Given the description of an element on the screen output the (x, y) to click on. 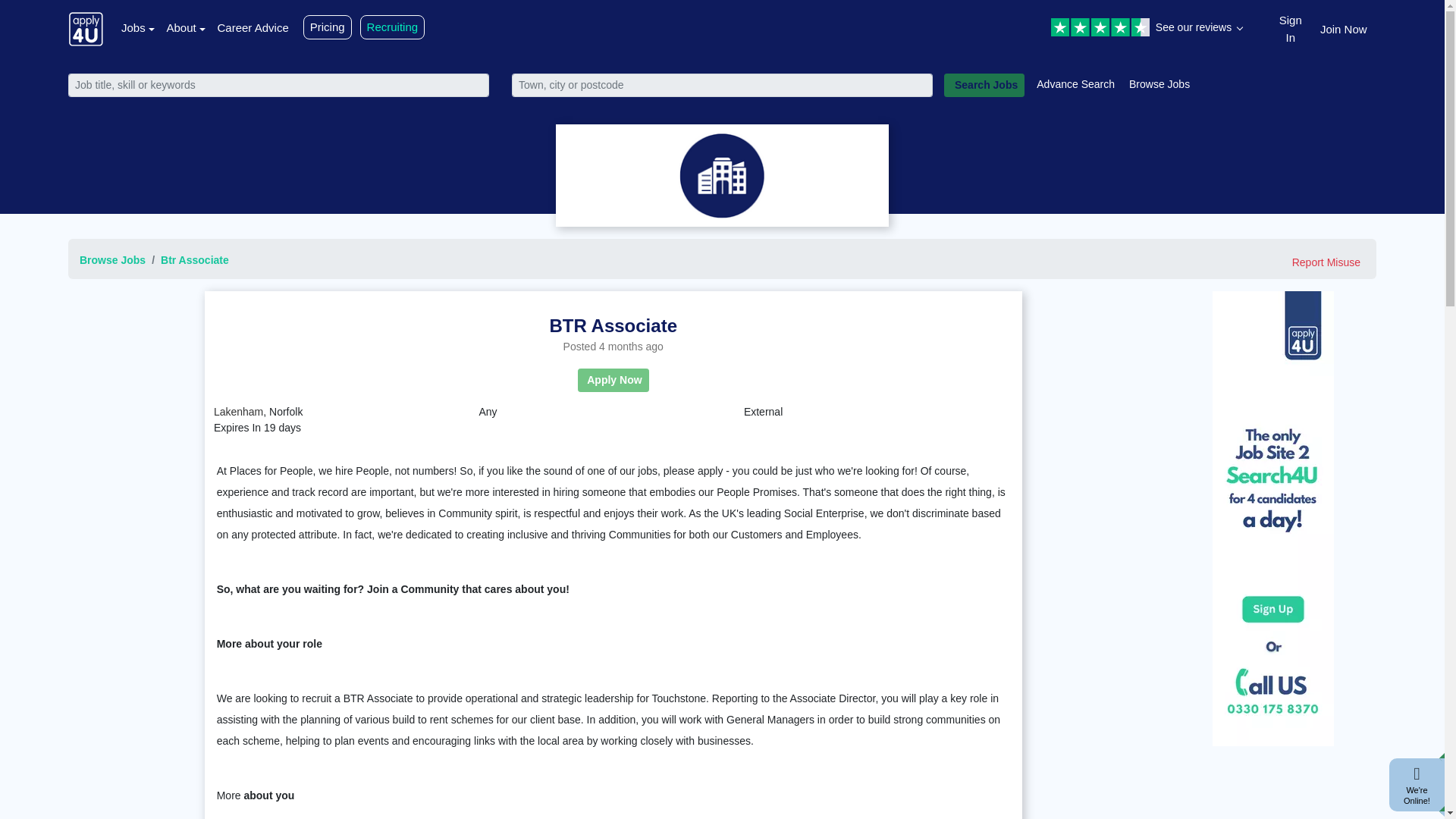
Sign In (1290, 27)
Report Misuse (1326, 262)
Lakenham (238, 411)
Career Advice (253, 27)
Pricing (327, 27)
Browse Jobs (1160, 83)
Btr Associate (194, 259)
Search Jobs (984, 85)
Switch to Recruiting? (392, 27)
Join Now (1343, 27)
BTR Associate Job (613, 326)
Recruiting (392, 27)
Customer reviews powered by Trustpilot (1143, 29)
